Given the description of an element on the screen output the (x, y) to click on. 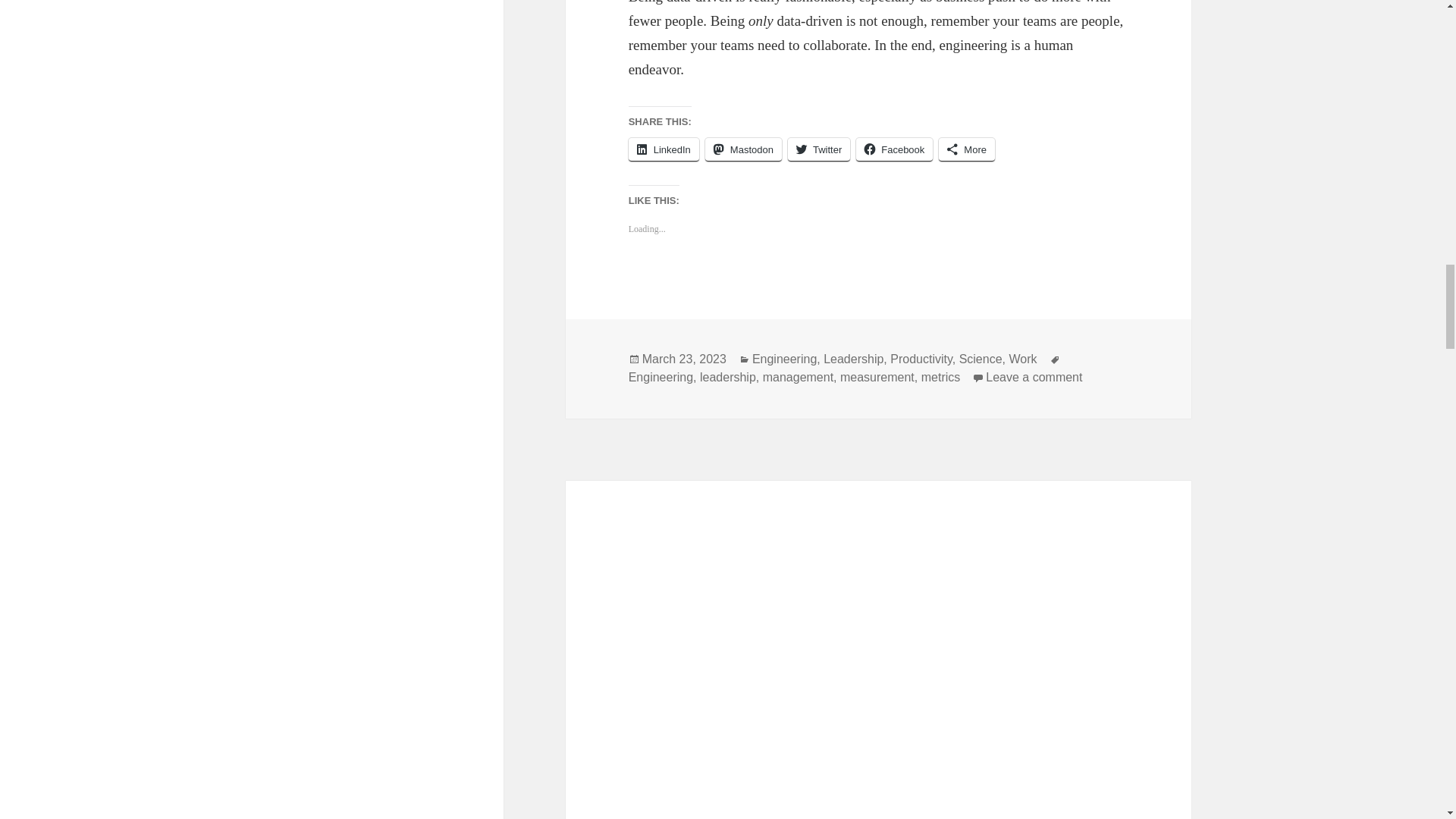
Click to share on LinkedIn (663, 149)
Click to share on Facebook (894, 149)
Click to share on Mastodon (742, 149)
Click to share on Twitter (818, 149)
